Given the description of an element on the screen output the (x, y) to click on. 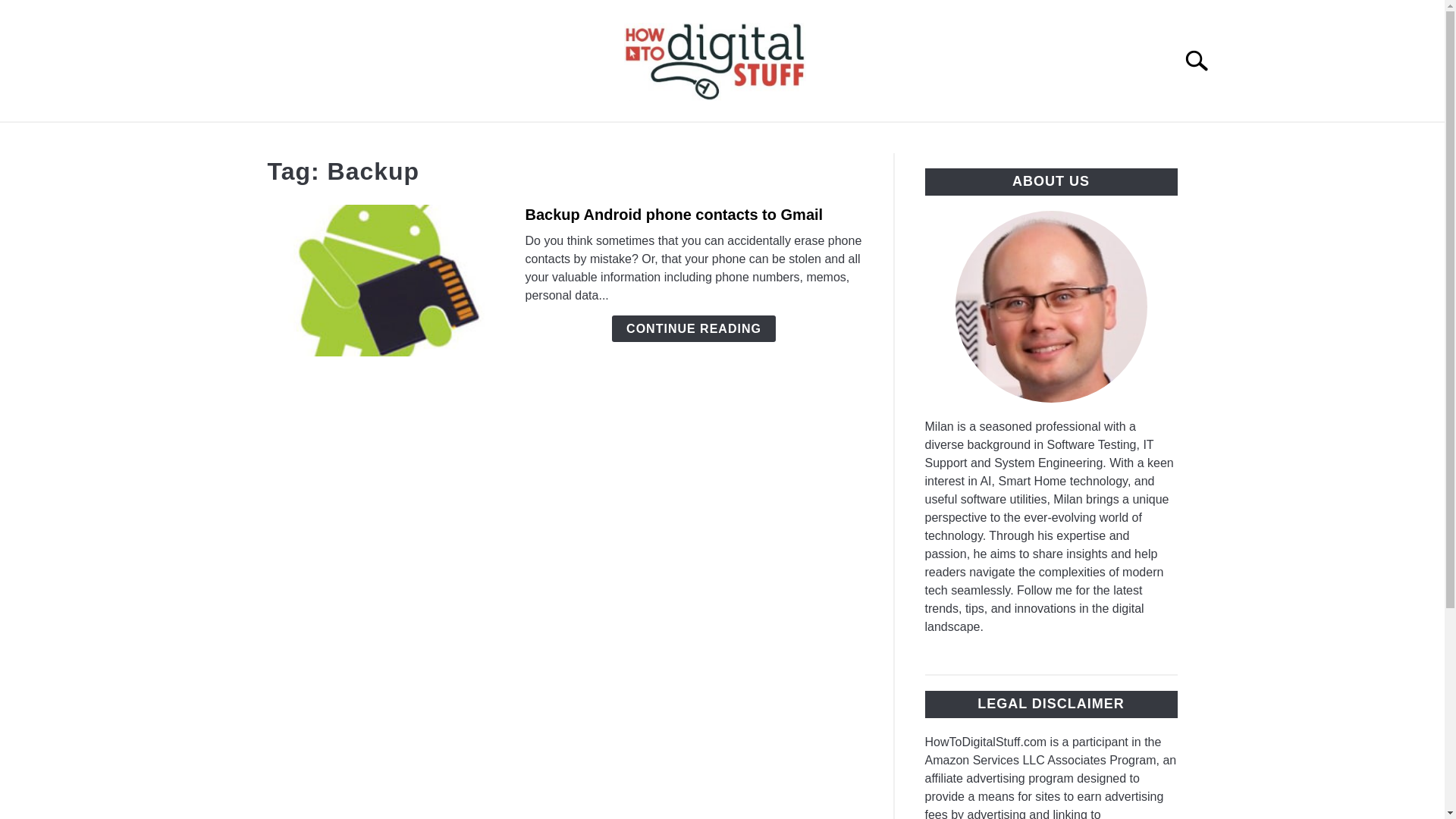
GUIDES (635, 140)
Search (1203, 60)
Backup Android phone contacts to Gmail (673, 214)
SMART HOME (530, 140)
SOFTWARE (923, 140)
REVIEWS (724, 140)
CONTINUE READING (693, 328)
WINDOWS (820, 140)
